Given the description of an element on the screen output the (x, y) to click on. 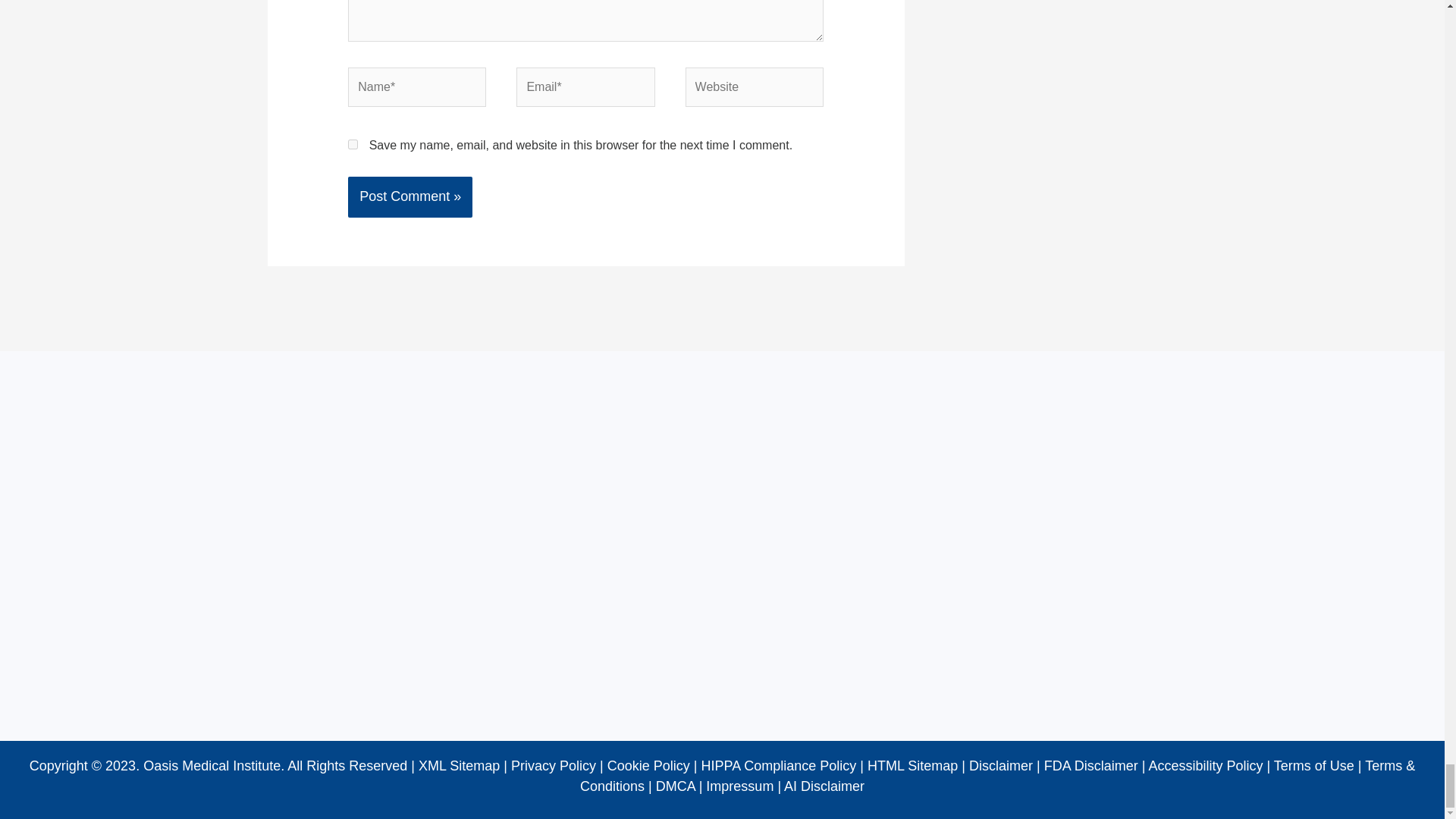
yes (352, 144)
